Given the description of an element on the screen output the (x, y) to click on. 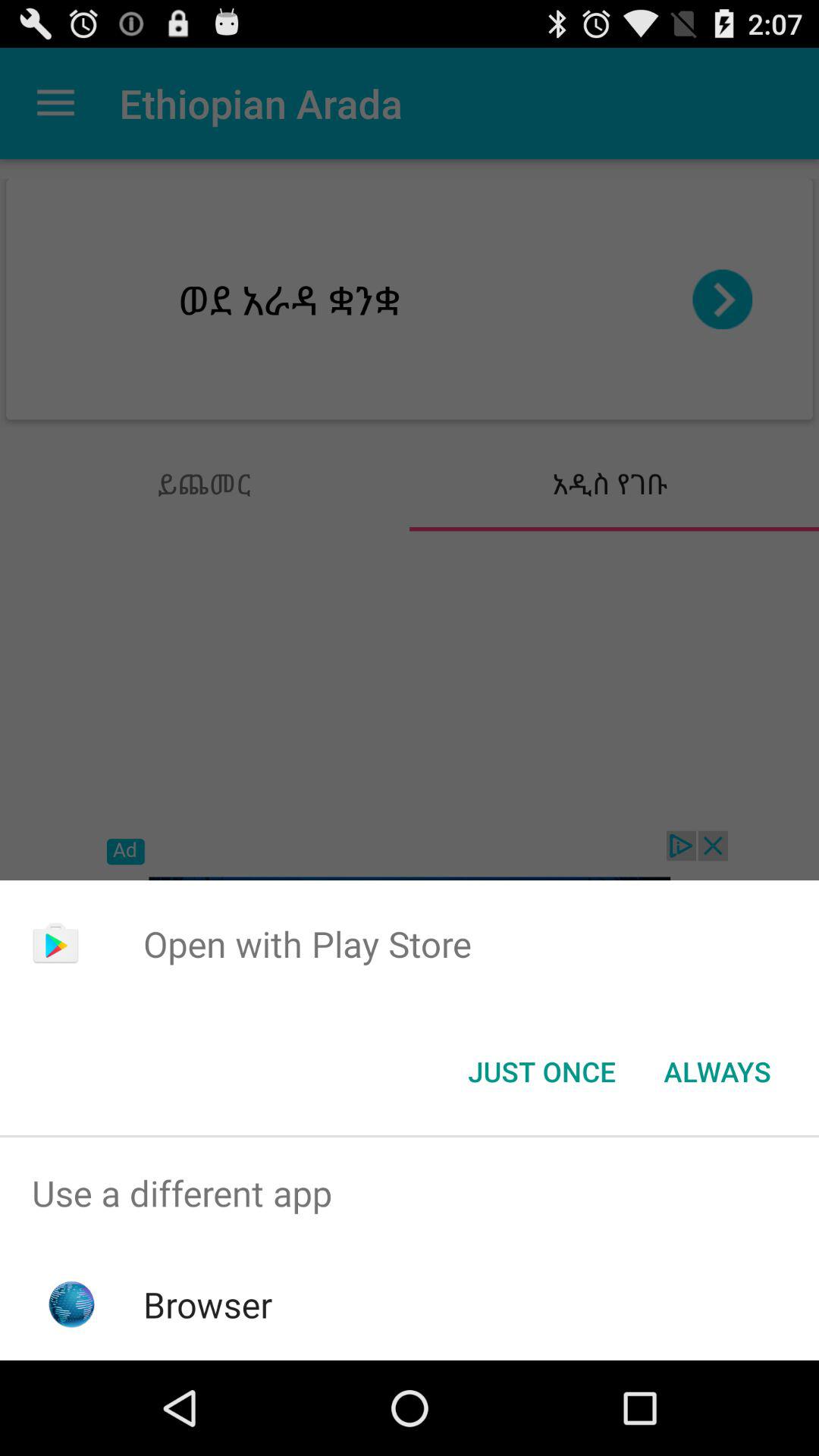
open the button next to always (541, 1071)
